Given the description of an element on the screen output the (x, y) to click on. 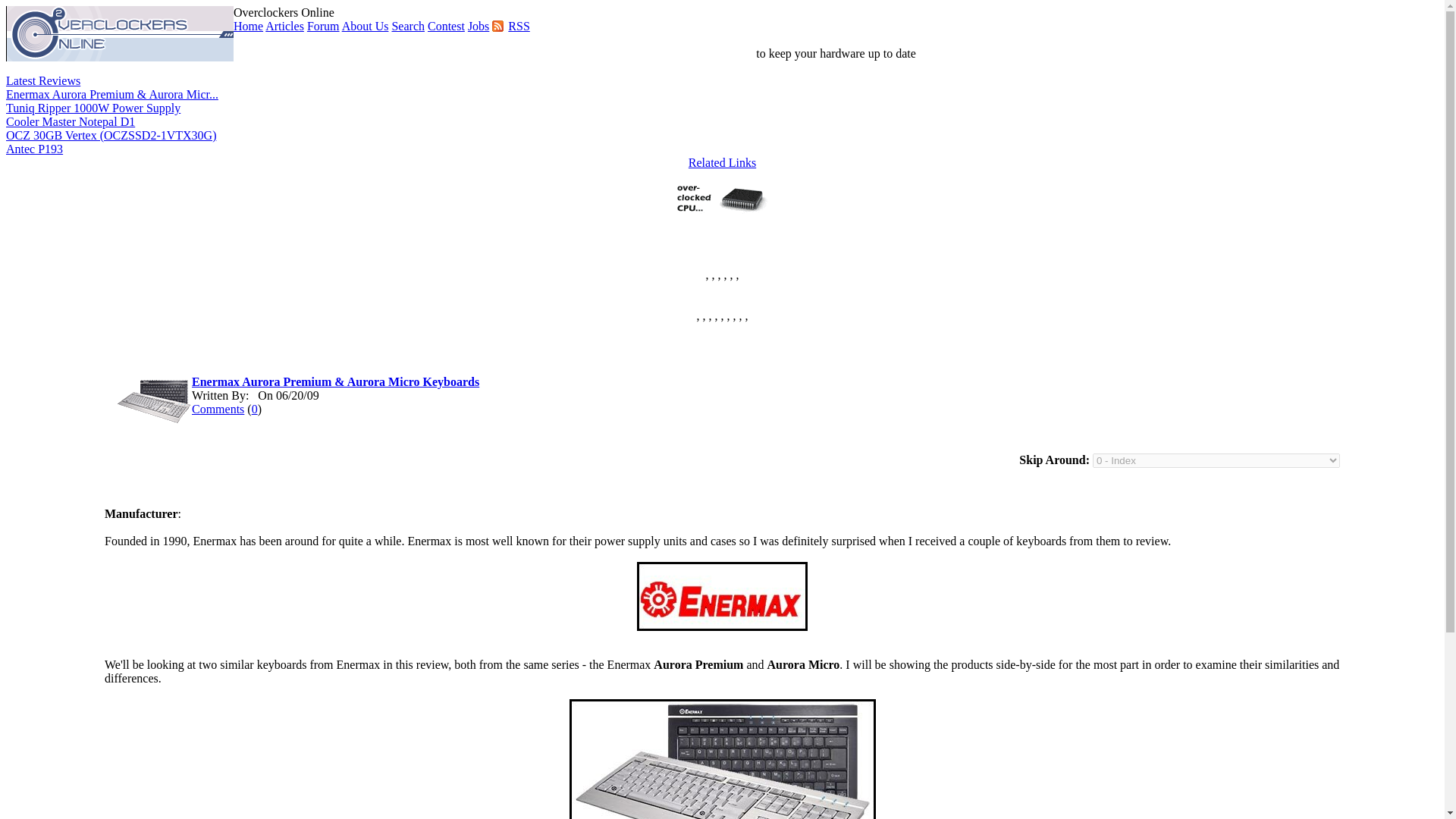
Jobs (478, 25)
Comments (218, 408)
Contest (446, 25)
Forum (323, 25)
Latest Reviews (42, 80)
Articles (284, 25)
About Us (365, 25)
Search (408, 25)
Home (247, 25)
Tuniq Ripper 1000W Power Supply (92, 107)
